Given the description of an element on the screen output the (x, y) to click on. 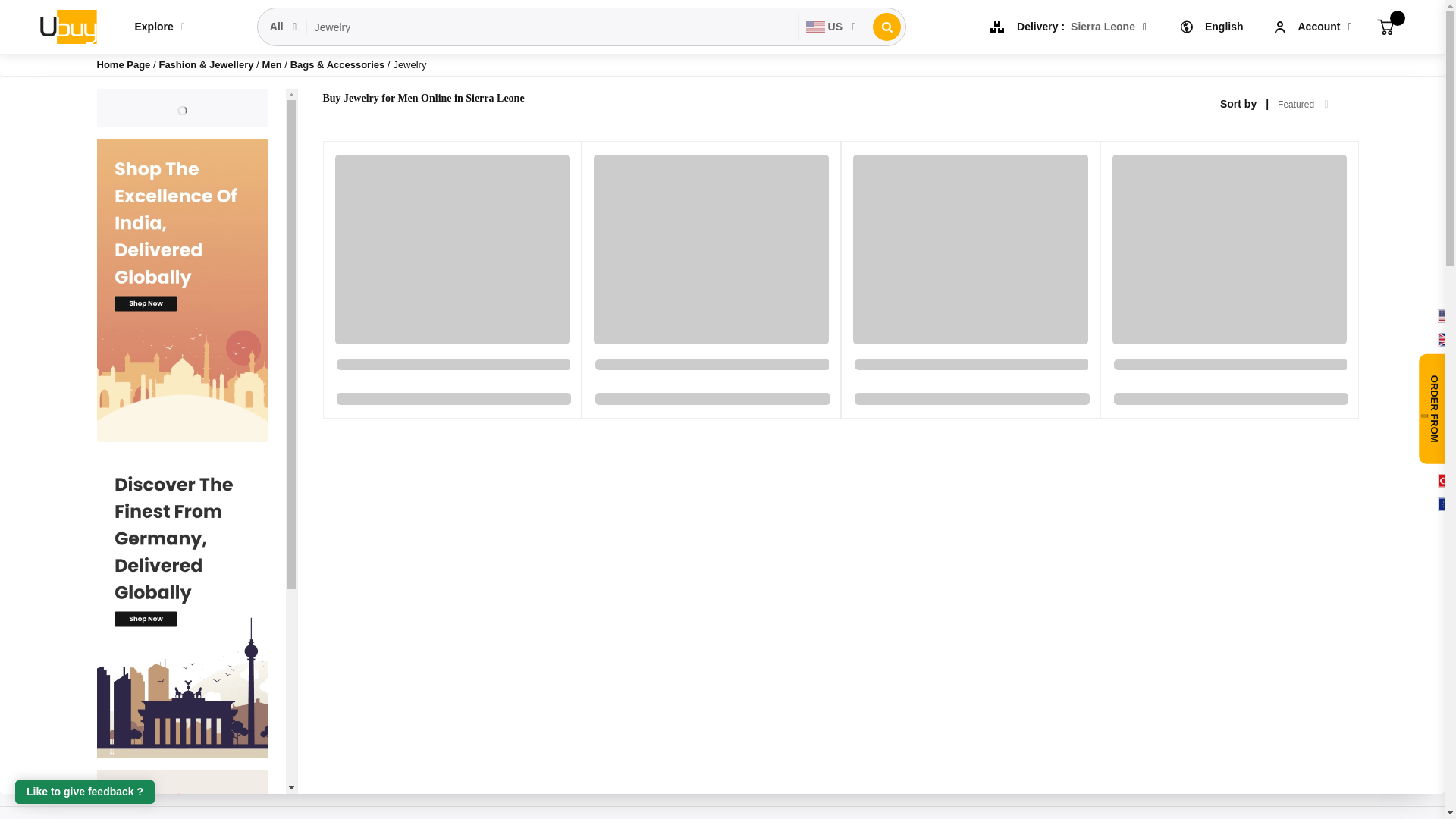
Jewelry (552, 26)
Home Page (124, 64)
US (830, 26)
Home Page (124, 64)
Ubuy (67, 26)
All (283, 26)
Cart (1385, 26)
Jewelry (552, 26)
